Given the description of an element on the screen output the (x, y) to click on. 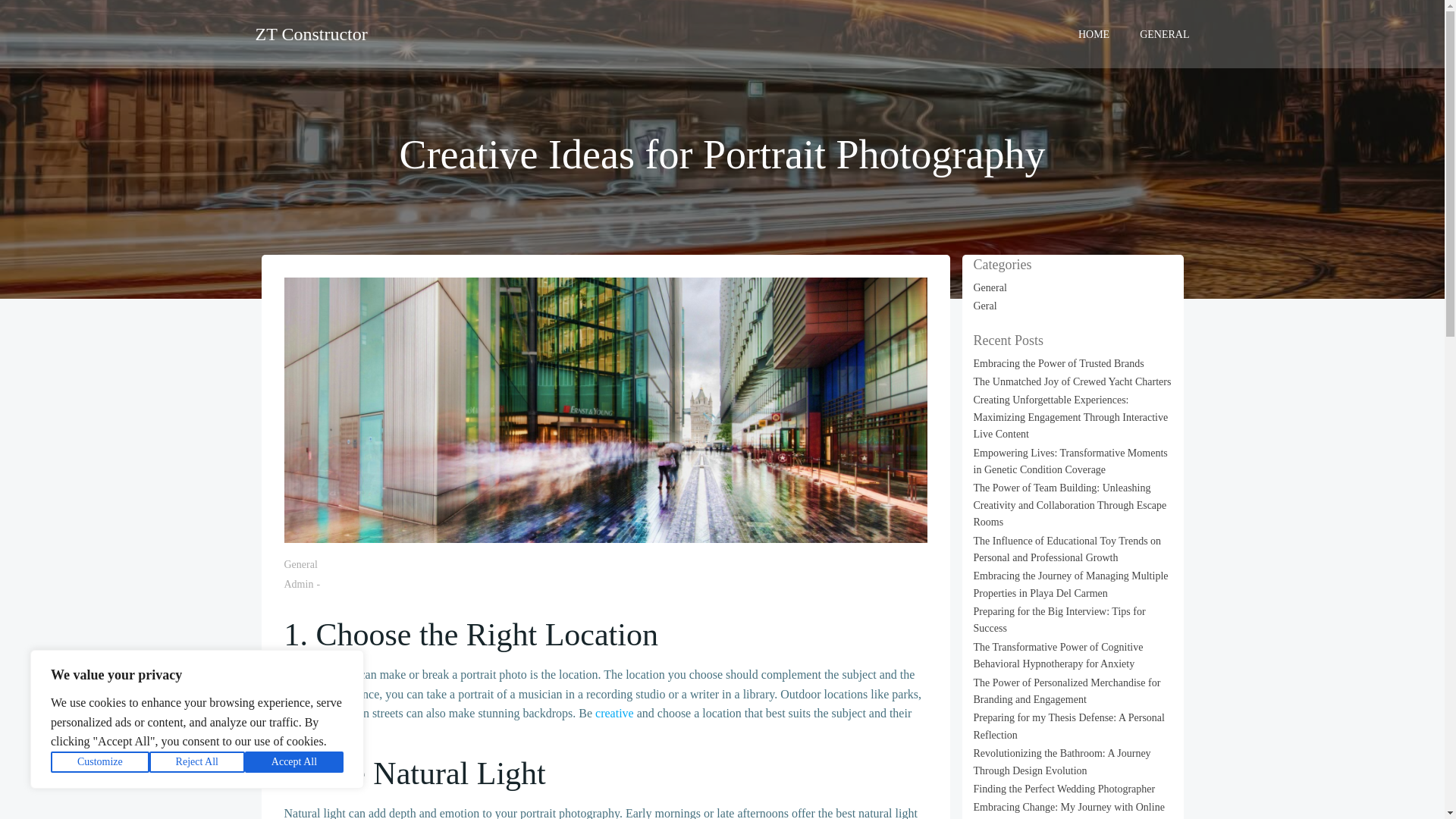
GENERAL (1164, 33)
HOME (1093, 33)
Customize (99, 762)
Admin (298, 584)
Accept All (293, 762)
Geral (985, 306)
creative (614, 712)
The Unmatched Joy of Crewed Yacht Charters (1073, 381)
General (300, 564)
